Given the description of an element on the screen output the (x, y) to click on. 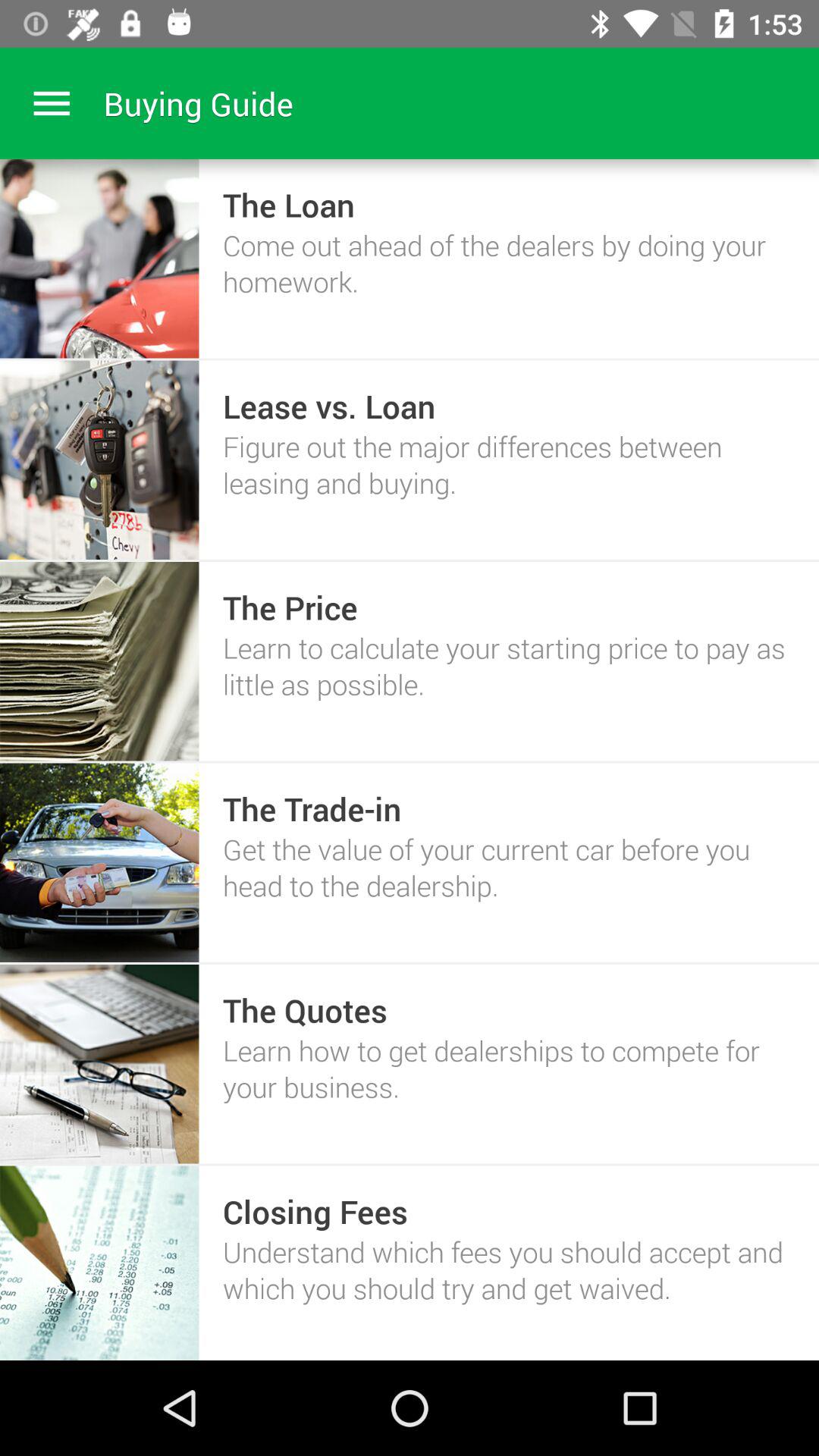
tap the item below get the value icon (304, 1009)
